Given the description of an element on the screen output the (x, y) to click on. 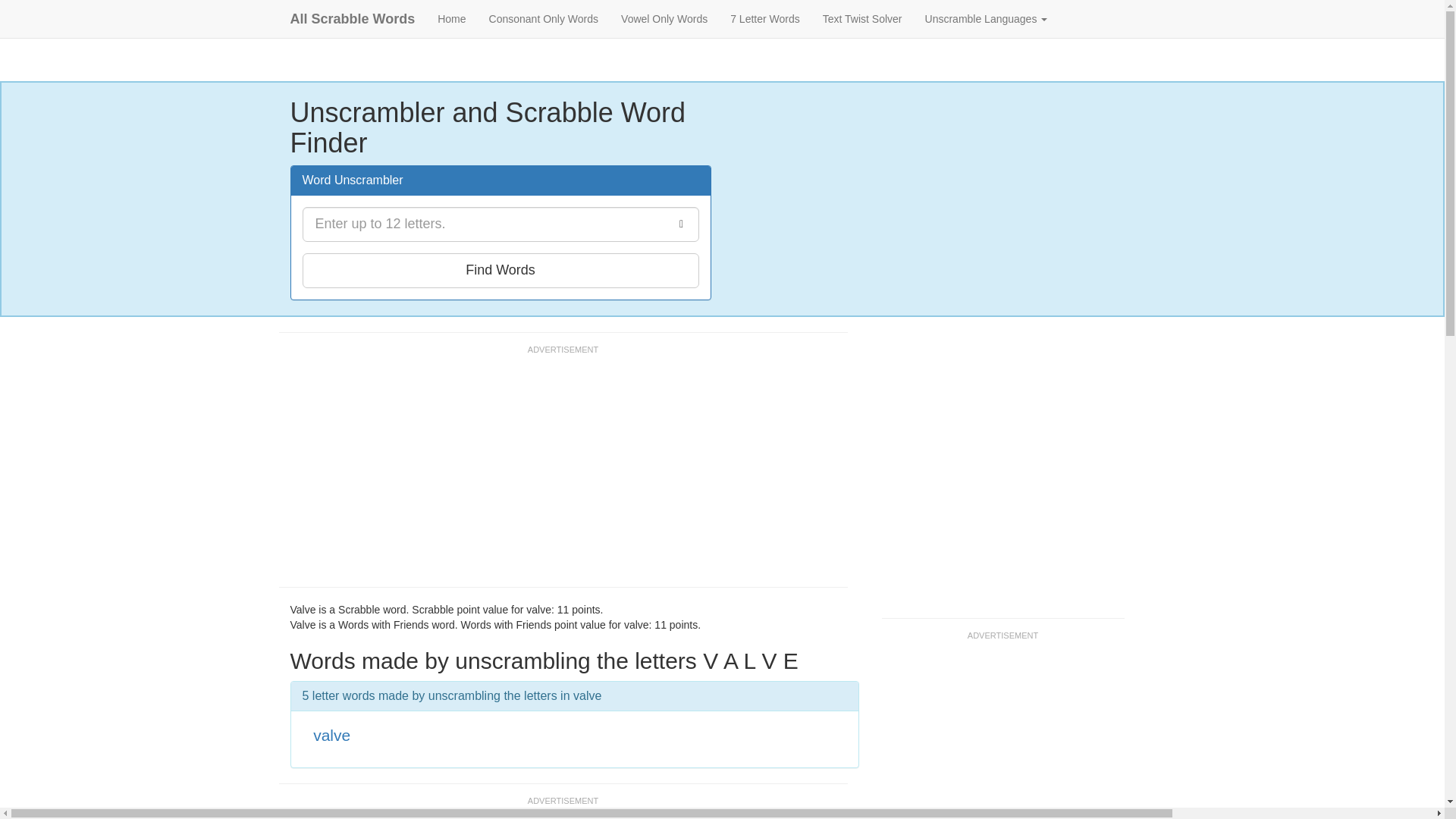
Letter Unscrambler and Scrabble Finder (499, 127)
Vowel Only Words (664, 18)
Consonant Only Words (543, 18)
Seven Letter Scrabble Words (764, 18)
Text Twist Solver (862, 18)
Vowel Only Scrabble Words (664, 18)
Consonant Only Scrabble Words (543, 18)
Advertisement (555, 472)
Find Words (499, 270)
valve (331, 734)
